Given the description of an element on the screen output the (x, y) to click on. 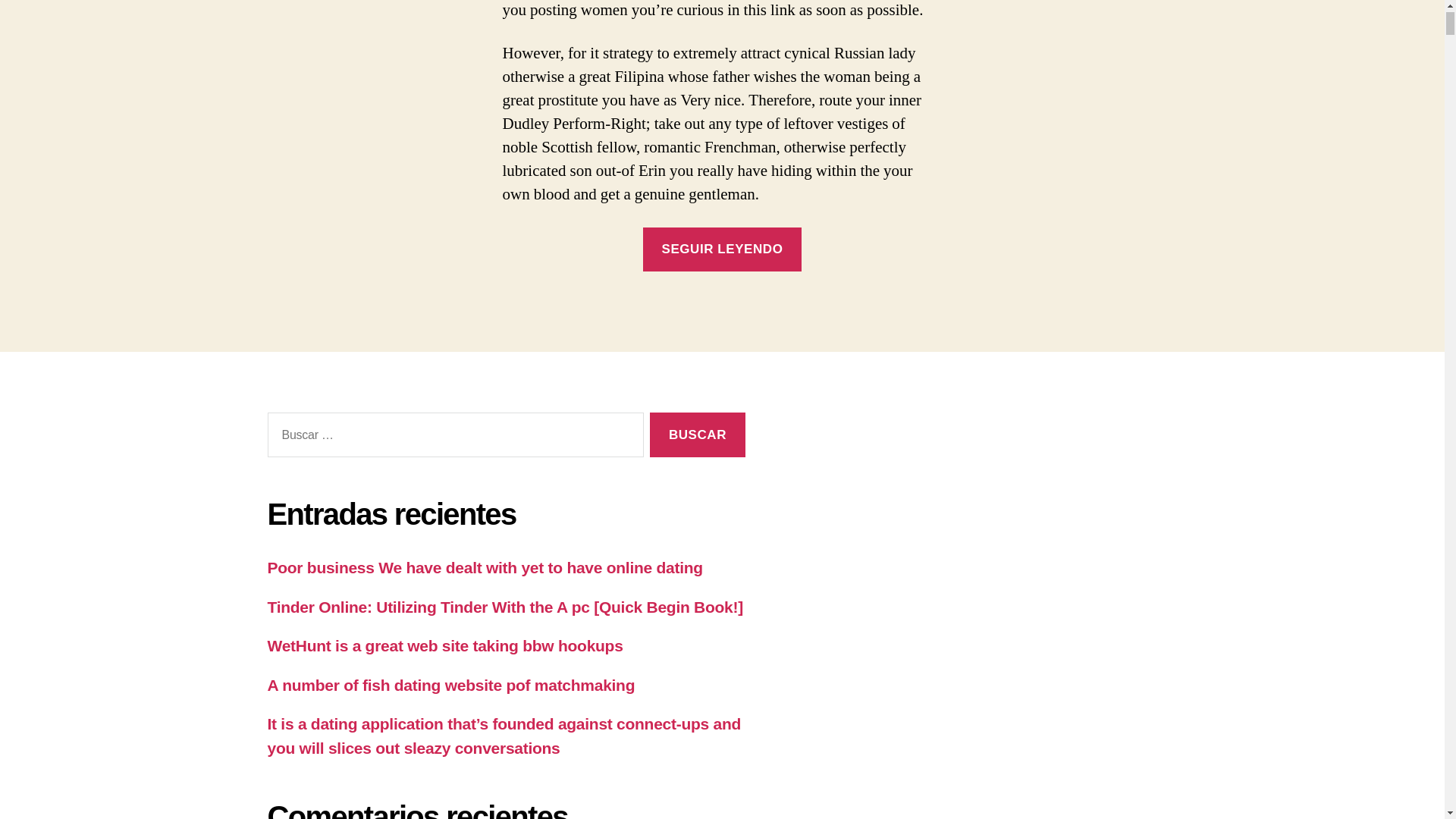
Poor business We have dealt with yet to have online dating (483, 567)
WetHunt is a great web site taking bbw hookups (444, 645)
Buscar (696, 434)
A number of fish dating website pof matchmaking (450, 684)
Buscar (696, 434)
Buscar (696, 434)
